Given the description of an element on the screen output the (x, y) to click on. 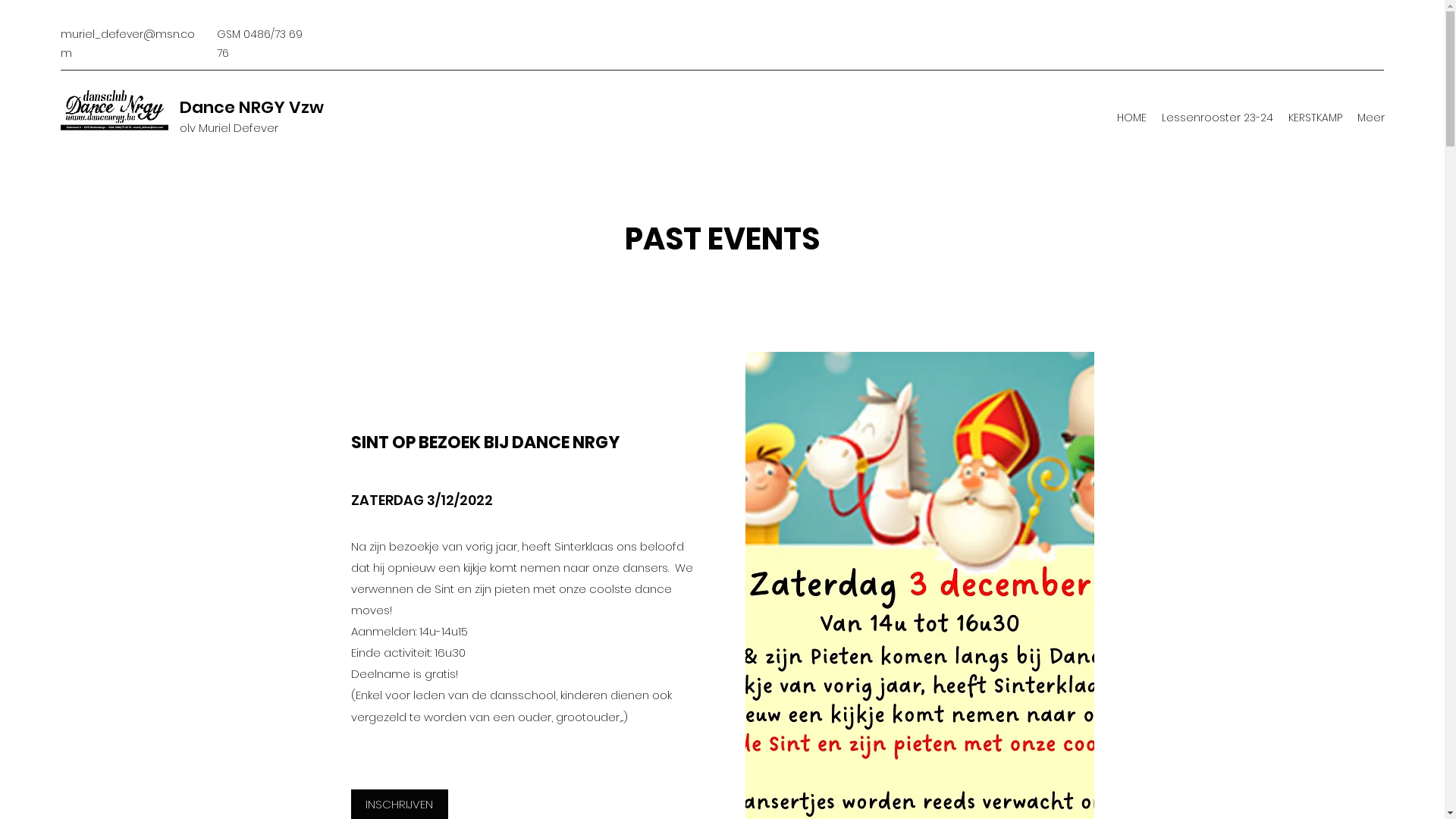
KERSTKAMP Element type: text (1314, 117)
HOME Element type: text (1131, 117)
muriel_defever@msn.com Element type: text (127, 43)
Lessenrooster 23-24 Element type: text (1217, 117)
